Given the description of an element on the screen output the (x, y) to click on. 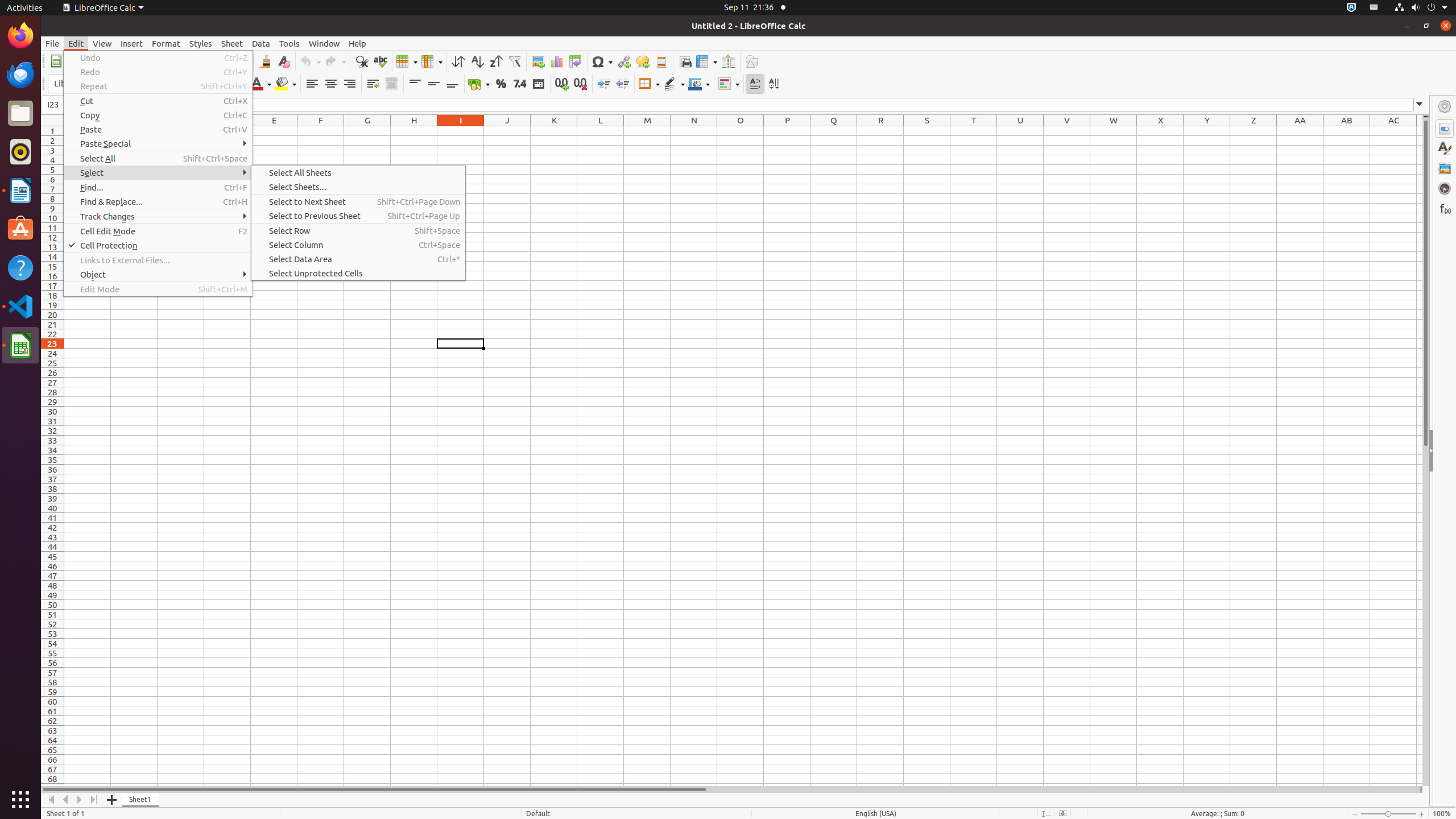
Delete Decimal Place Element type: push-button (580, 83)
Currency Element type: push-button (478, 83)
G1 Element type: table-cell (367, 130)
Split Window Element type: push-button (727, 61)
